Given the description of an element on the screen output the (x, y) to click on. 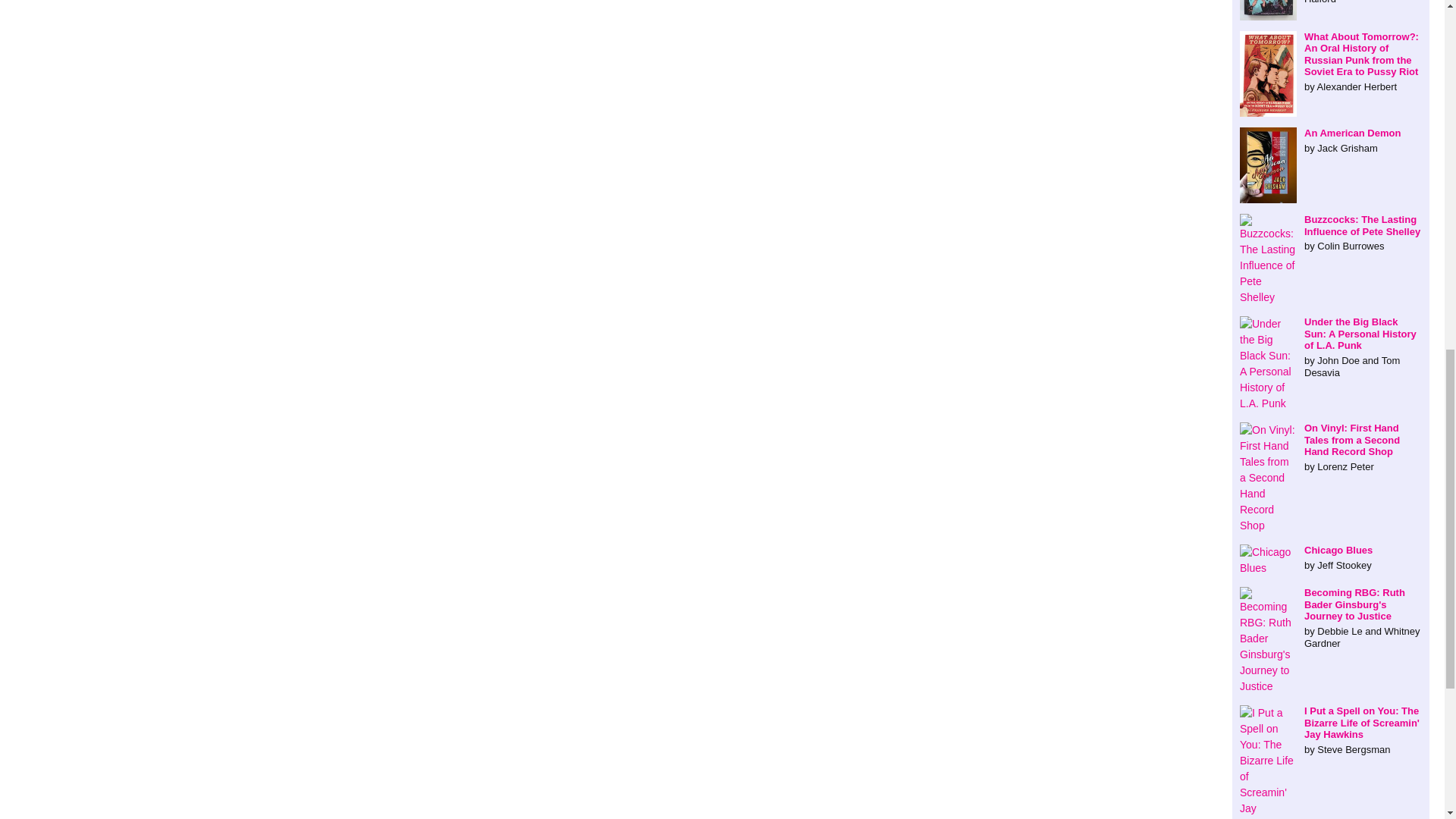
Under the Big Black Sun: A Personal History of L.A. Punk (1331, 347)
Becoming RBG: Ruth Bader Ginsburg's Journey to Justice (1331, 618)
An American Demon (1331, 140)
On Vinyl: First Hand Tales from a Second Hand Record Shop (1331, 447)
Chicago Blues (1331, 557)
Buzzcocks: The Lasting Influence of Pete Shelley (1331, 232)
